Given the description of an element on the screen output the (x, y) to click on. 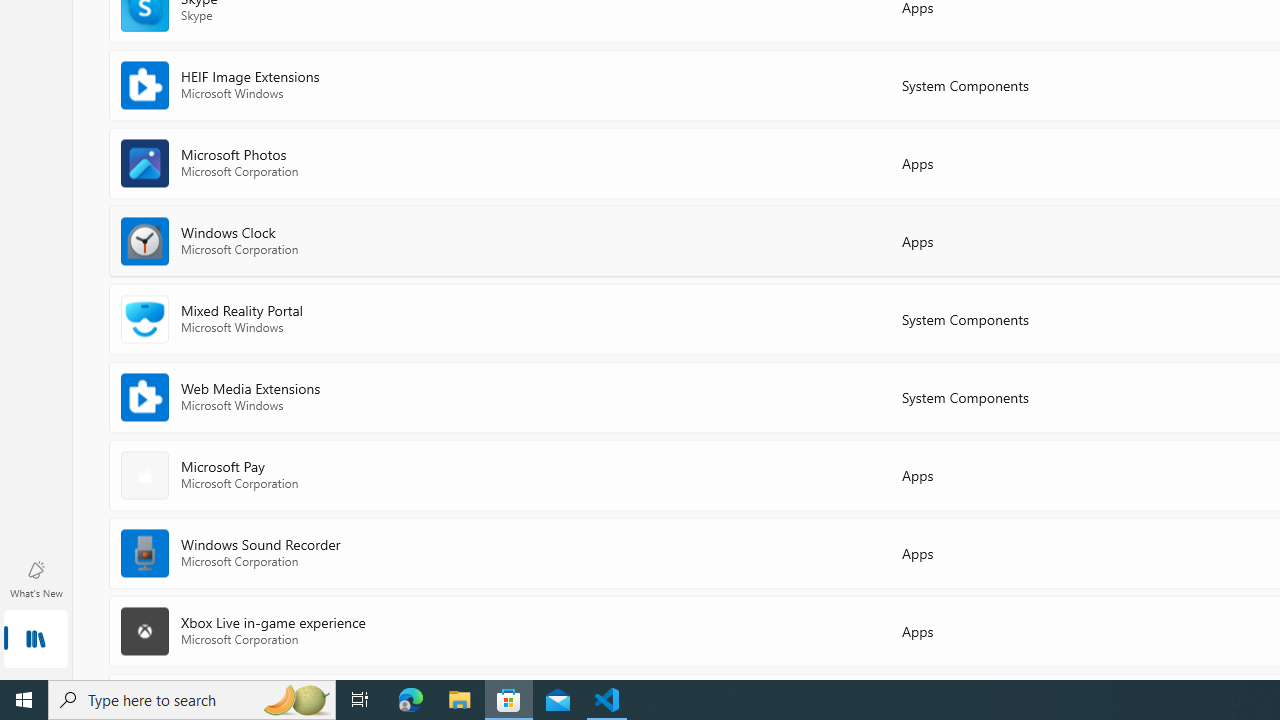
Library (35, 640)
What's New (35, 578)
